Given the description of an element on the screen output the (x, y) to click on. 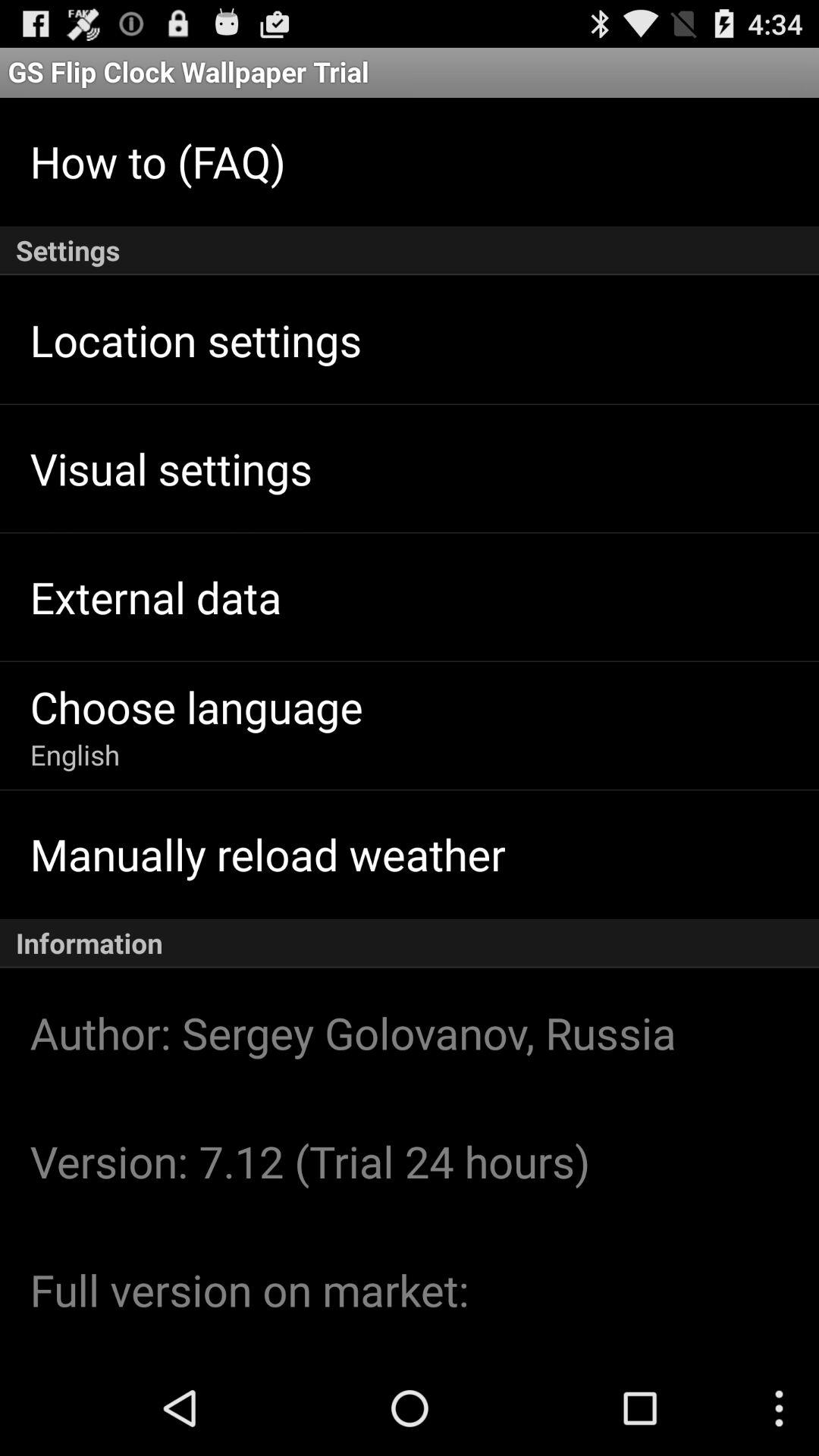
select the choose language (196, 706)
